Given the description of an element on the screen output the (x, y) to click on. 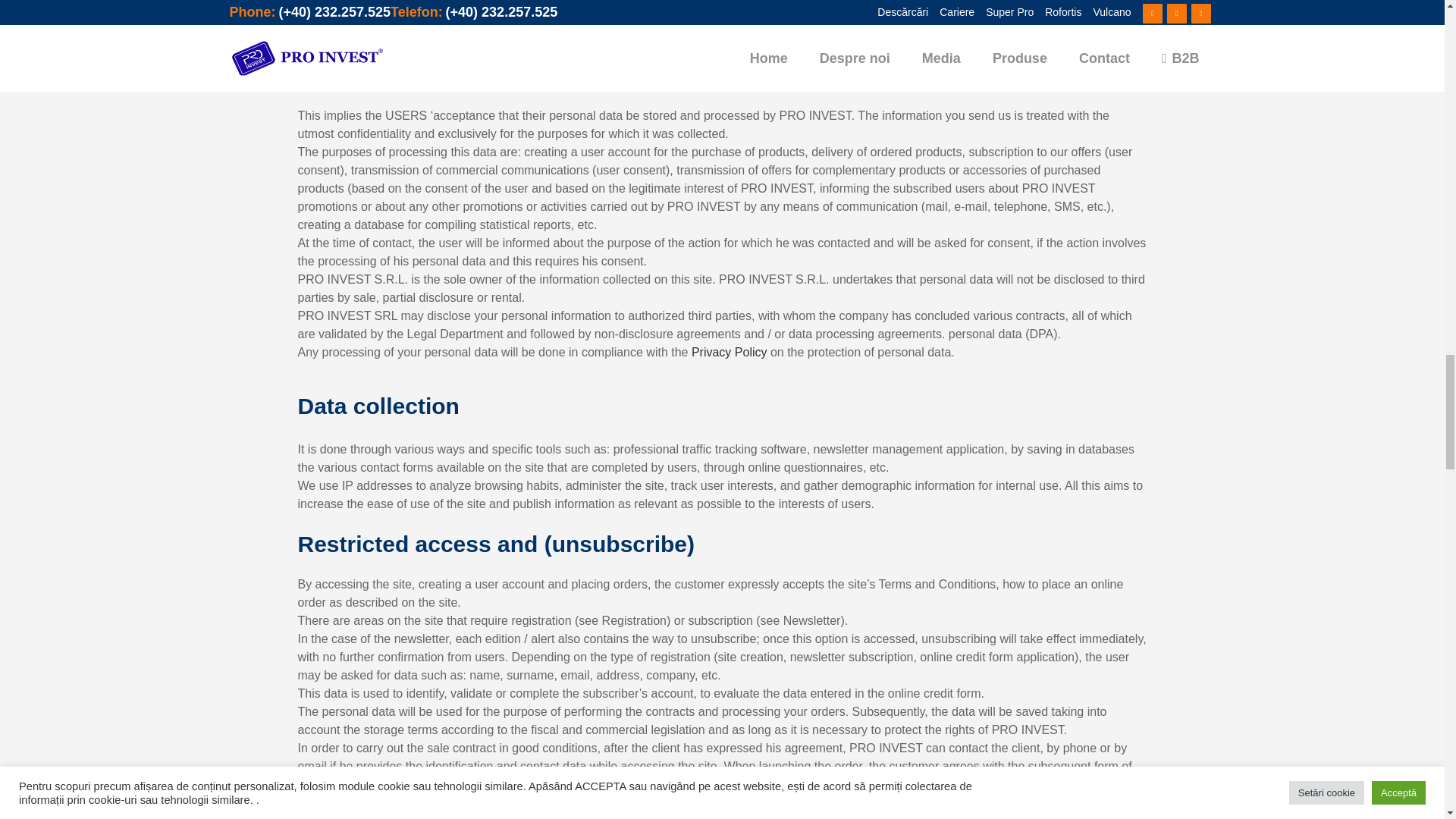
Privacy Policy (729, 351)
